Given the description of an element on the screen output the (x, y) to click on. 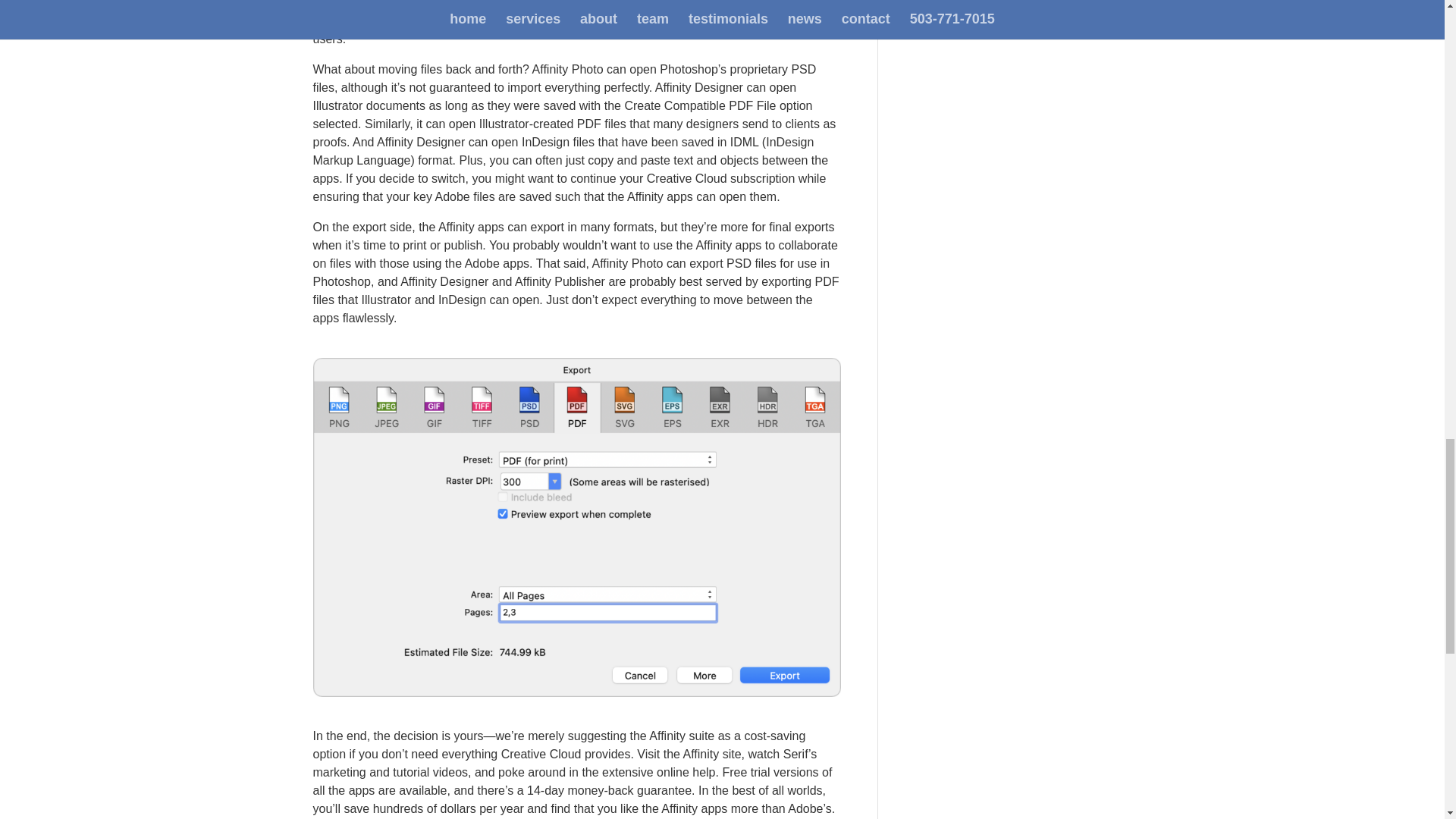
active user forum (465, 4)
hundreds of tutorial videos (564, 4)
